Given the description of an element on the screen output the (x, y) to click on. 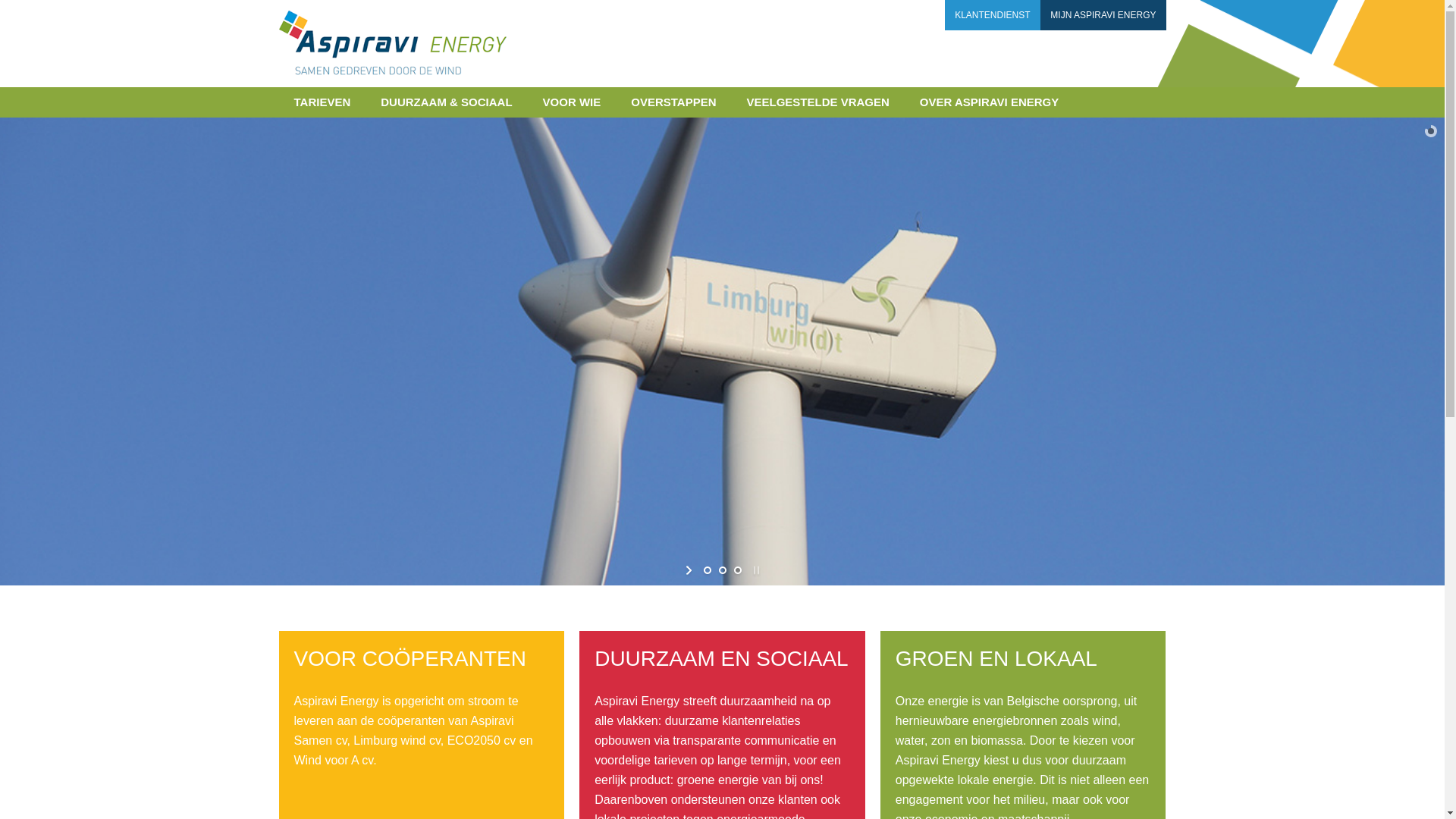
DUURZAAM & SOCIAAL Element type: text (446, 102)
OVER ASPIRAVI ENERGY Element type: text (988, 102)
VOOR WIE Element type: text (571, 102)
cookieverklaring Element type: text (387, 803)
MIJN ASPIRAVI ENERGY Element type: text (1102, 14)
Dit bericht niet meer tonen Element type: text (1306, 805)
VEELGESTELDE VRAGEN Element type: text (817, 102)
OVERSTAPPEN Element type: text (673, 102)
KLANTENDIENST Element type: text (991, 14)
TARIEVEN Element type: text (322, 102)
